Given the description of an element on the screen output the (x, y) to click on. 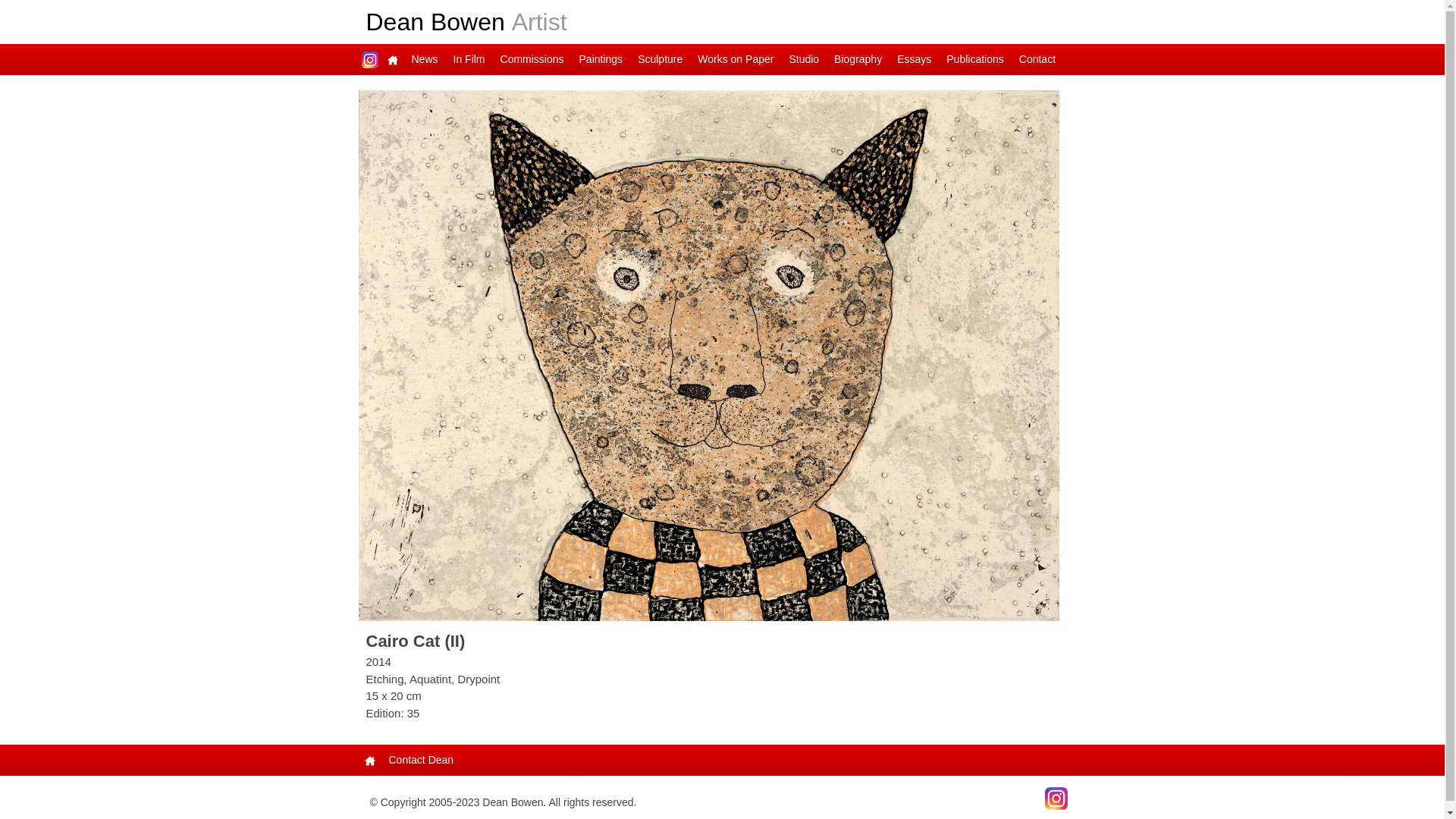
Paintings Element type: text (600, 59)
Commissions Element type: text (531, 59)
Works on Paper Element type: text (735, 59)
Dean Bowen Artist Element type: text (465, 21)
Main Page Element type: text (391, 59)
Publications Element type: text (974, 59)
Biography Element type: text (857, 59)
Contact Dean Element type: text (420, 759)
In Film Element type: text (468, 59)
Contact Element type: text (1037, 59)
Essays Element type: text (913, 59)
Main Page Element type: text (368, 759)
Sculpture Element type: text (660, 59)
Dean on Instagram Element type: text (368, 59)
News Element type: text (424, 59)
Studio Element type: text (803, 59)
Dean Bowen on Instagram Element type: hover (1055, 797)
Etching by Dean Bowen Element type: hover (708, 355)
